Given the description of an element on the screen output the (x, y) to click on. 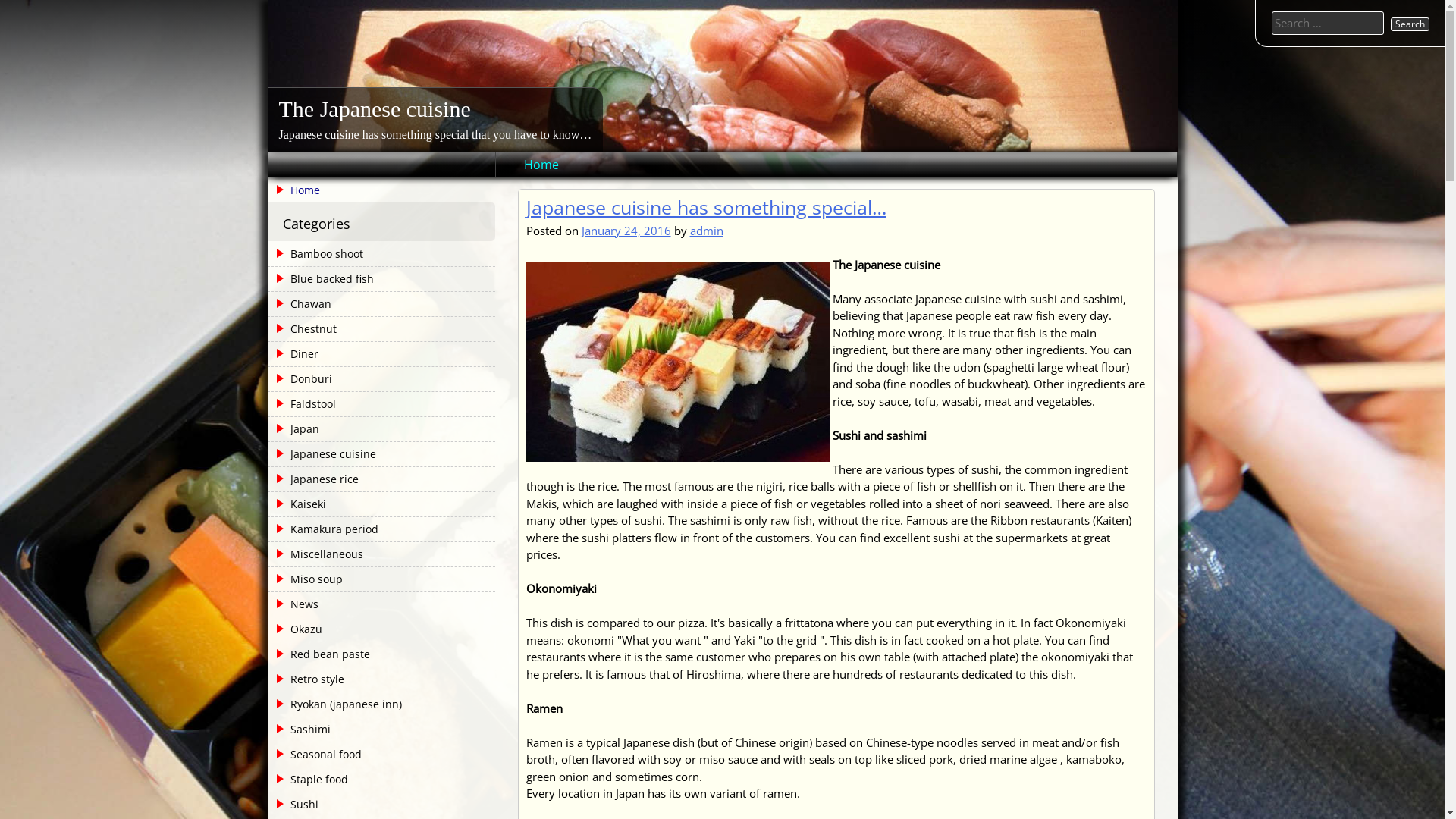
Faldstool Element type: text (302, 404)
Home Element type: text (380, 190)
Retro style Element type: text (306, 679)
Blue backed fish Element type: text (321, 278)
Miso soup Element type: text (305, 579)
Kamakura period Element type: text (323, 529)
admin Element type: text (706, 230)
Chawan Element type: text (300, 303)
Kaiseki Element type: text (297, 504)
Search Element type: text (1409, 24)
Okazu Element type: text (295, 629)
Staple food Element type: text (308, 779)
Bamboo shoot Element type: text (316, 253)
Home Element type: text (540, 164)
Donburi Element type: text (300, 379)
Miscellaneous Element type: text (316, 554)
Seasonal food Element type: text (315, 754)
Japan Element type: text (294, 429)
January 24, 2016 Element type: text (625, 230)
Chestnut Element type: text (302, 328)
Diner Element type: text (293, 354)
Japanese cuisine Element type: text (322, 454)
Sushi Element type: text (293, 804)
Red bean paste Element type: text (319, 654)
Sashimi Element type: text (299, 729)
Japanese rice Element type: text (313, 479)
The Japanese cuisine Element type: text (374, 108)
News Element type: text (293, 604)
Ryokan (japanese inn) Element type: text (335, 704)
Skip to content Element type: text (0, 0)
